Given the description of an element on the screen output the (x, y) to click on. 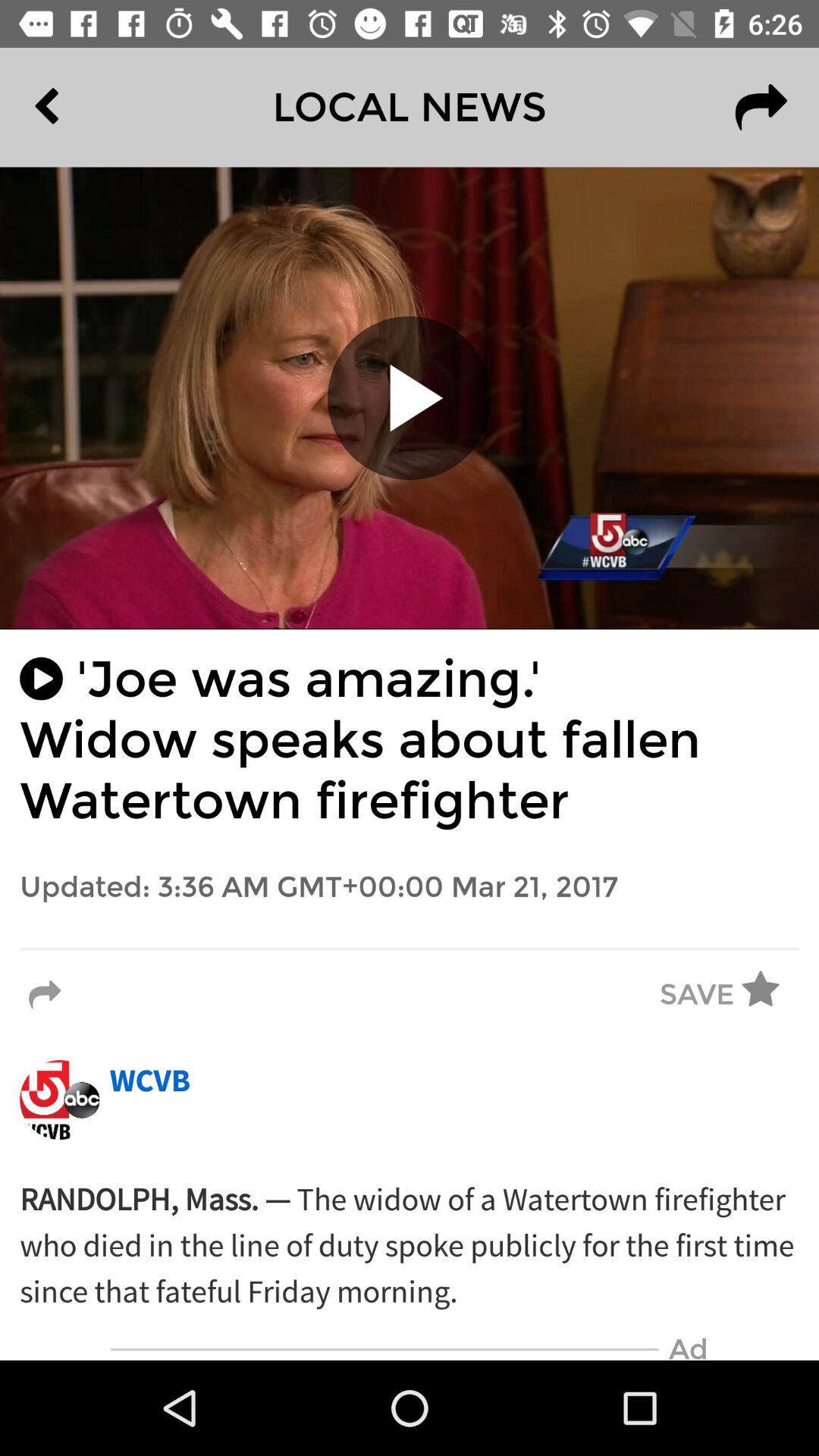
choose the updated 3 36 item (409, 887)
